Given the description of an element on the screen output the (x, y) to click on. 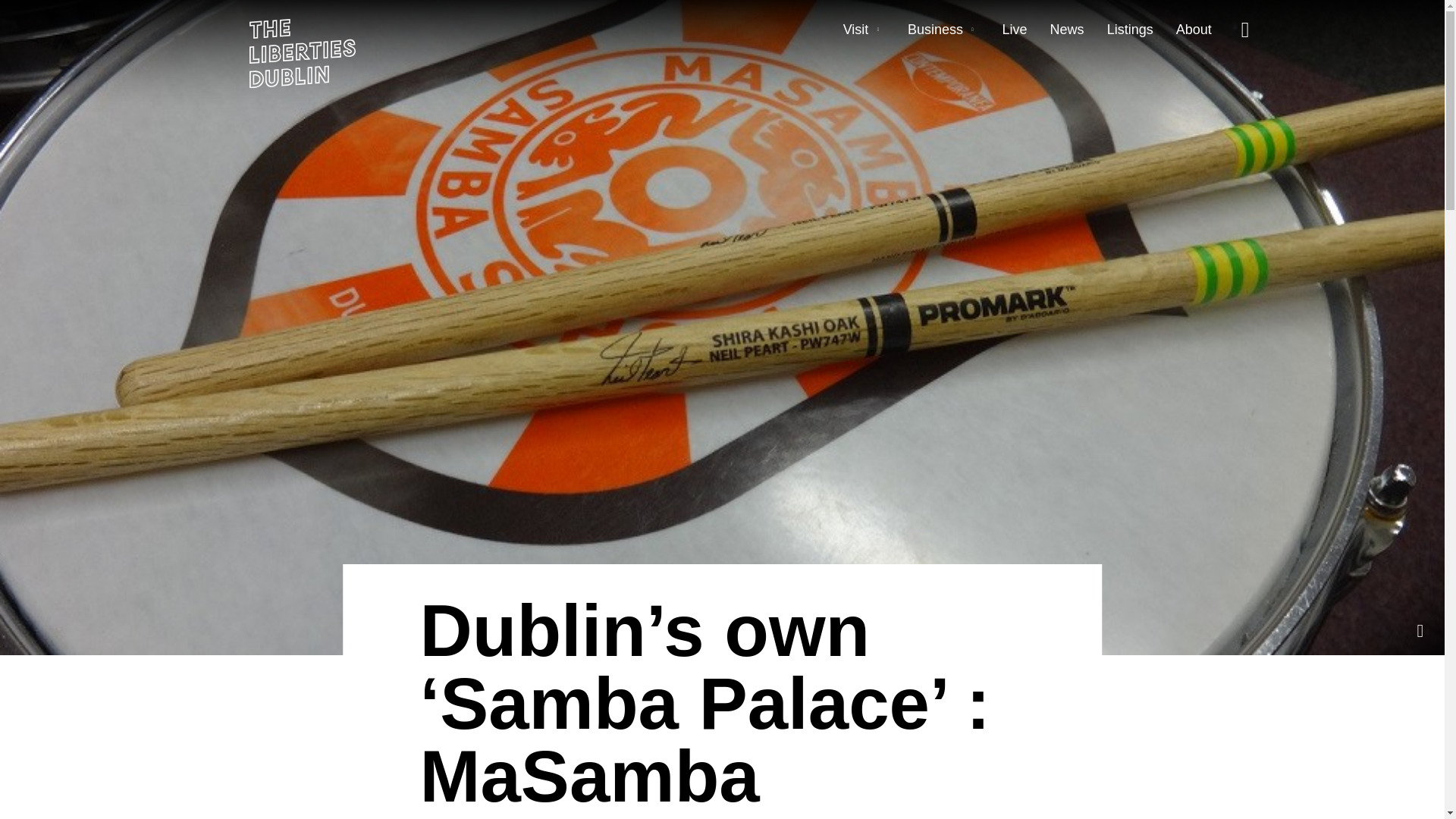
News (1066, 29)
About (1193, 29)
Live (1015, 29)
The Liberties Dublin (301, 53)
Visit (856, 29)
Business (934, 29)
The Liberties Dublin (301, 53)
Listings (1129, 29)
